Given the description of an element on the screen output the (x, y) to click on. 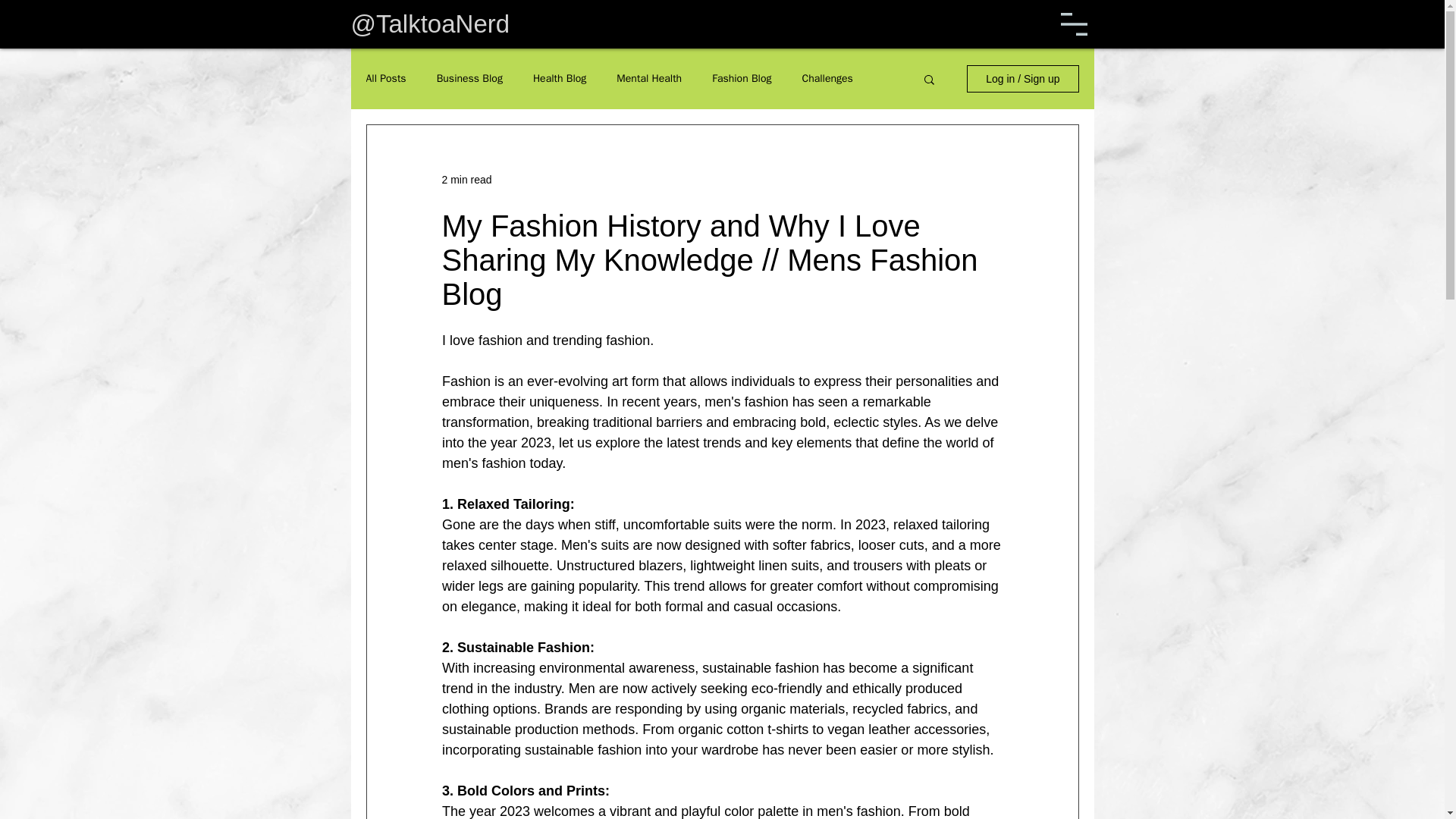
All Posts (385, 78)
Business Blog (469, 78)
Health Blog (559, 78)
2 min read (466, 179)
Challenges (826, 78)
Fashion Blog (741, 78)
Mental Health (648, 78)
